Given the description of an element on the screen output the (x, y) to click on. 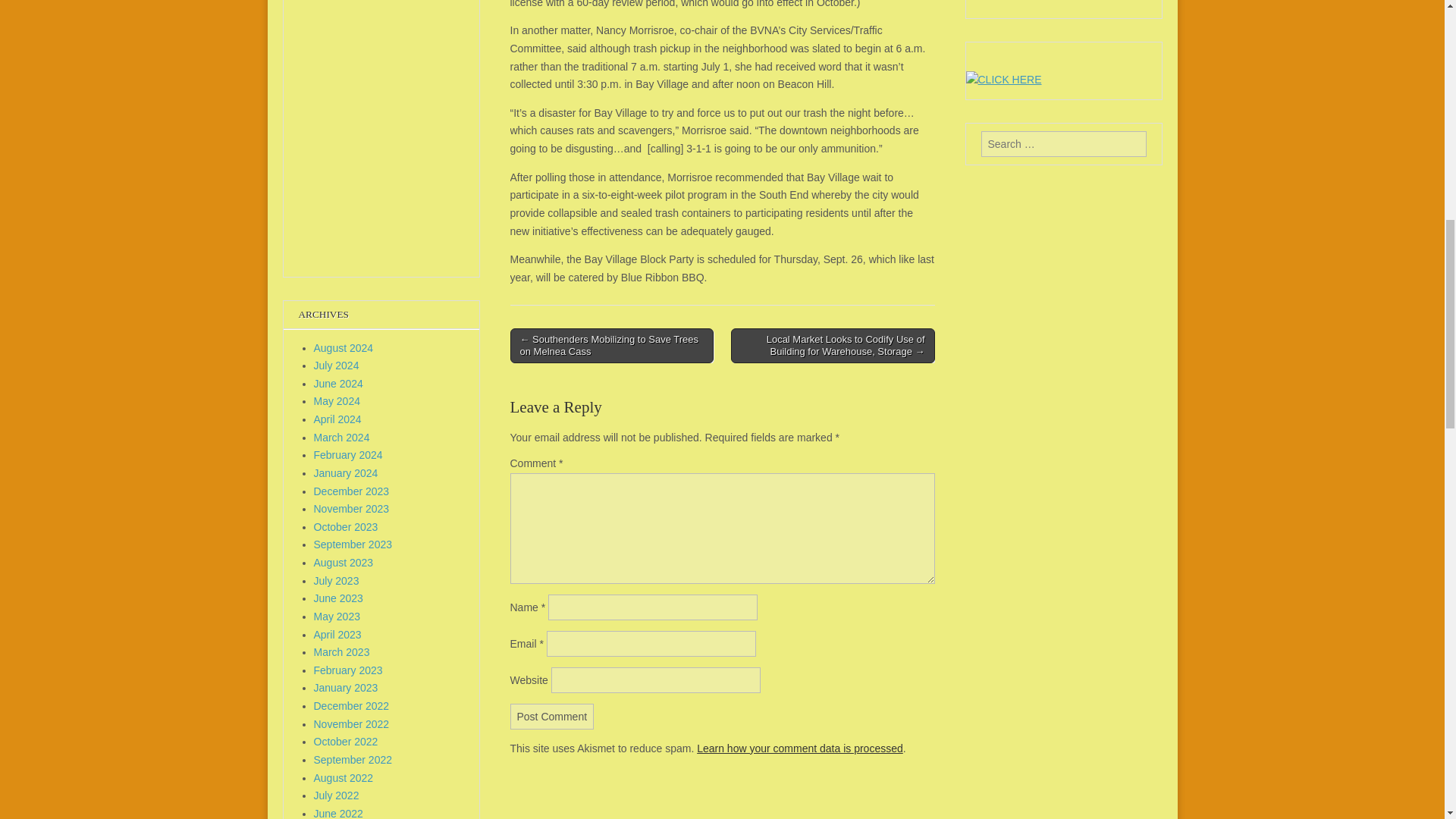
March 2024 (341, 437)
Post Comment (551, 716)
Post Comment (551, 716)
June 2024 (338, 383)
August 2024 (344, 347)
July 2024 (336, 365)
Learn how your comment data is processed (799, 748)
May 2024 (336, 400)
February 2024 (348, 454)
April 2024 (337, 419)
